Given the description of an element on the screen output the (x, y) to click on. 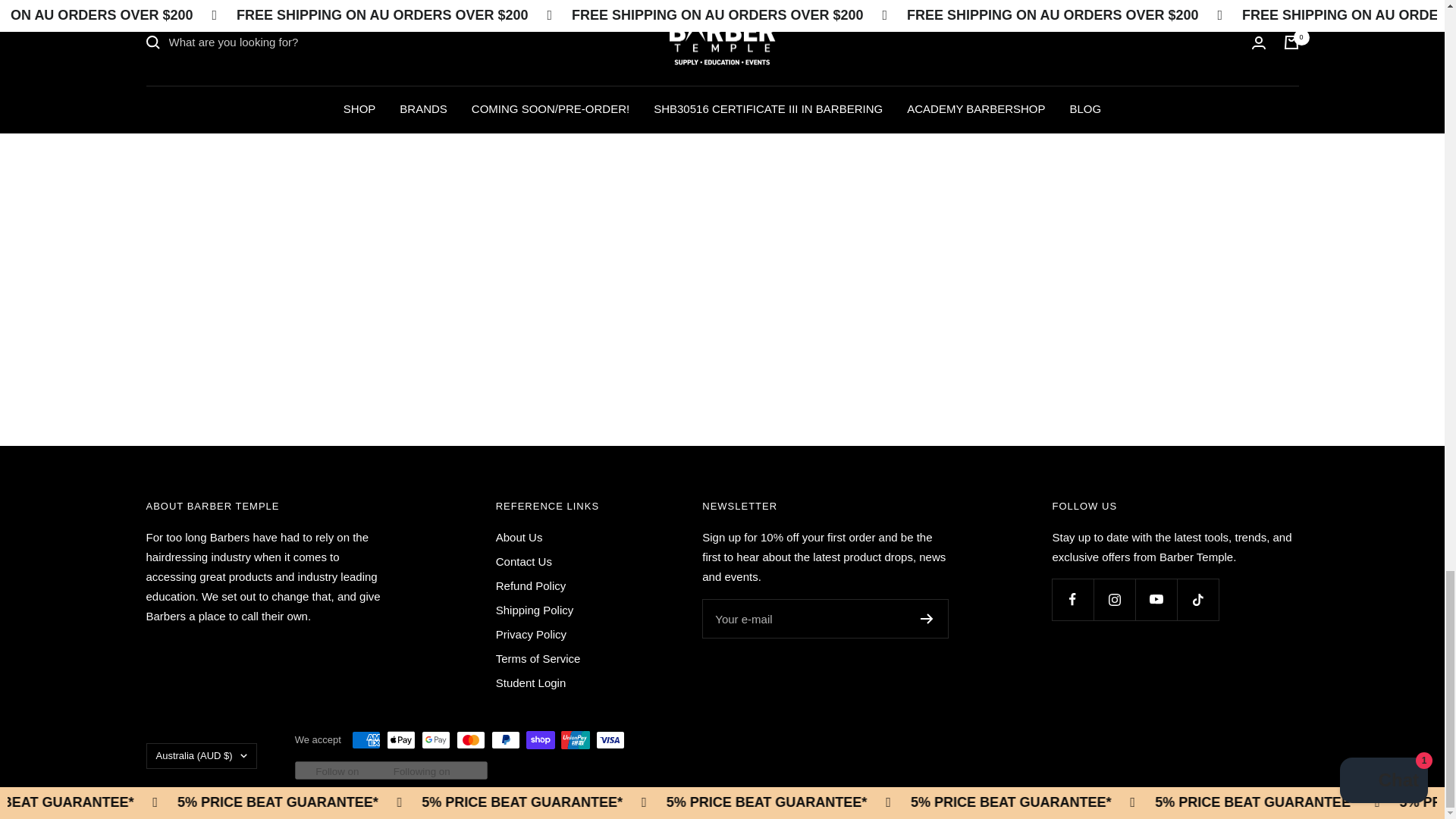
Register (926, 618)
